Given the description of an element on the screen output the (x, y) to click on. 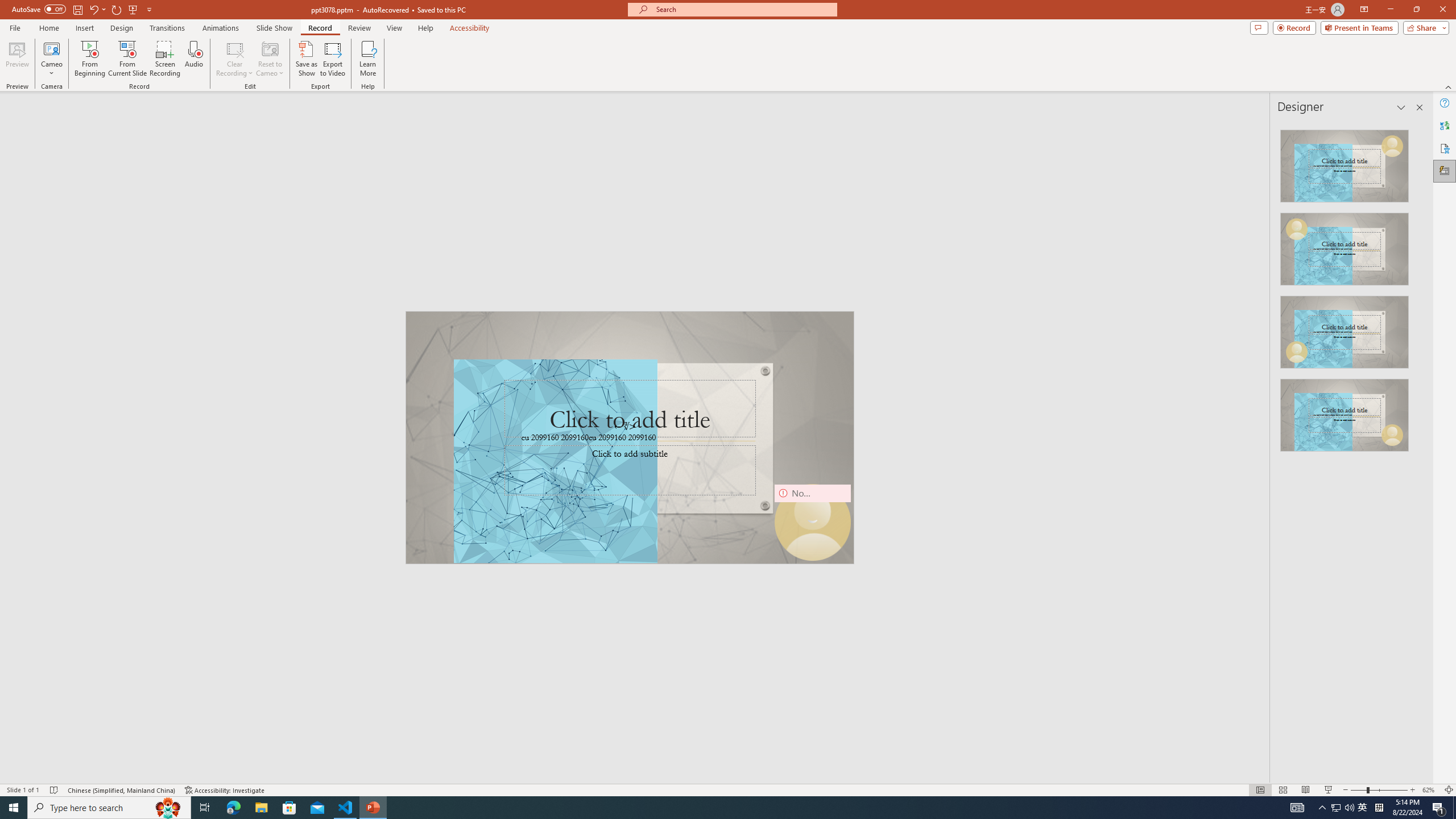
TextBox 7 (624, 426)
